Given the description of an element on the screen output the (x, y) to click on. 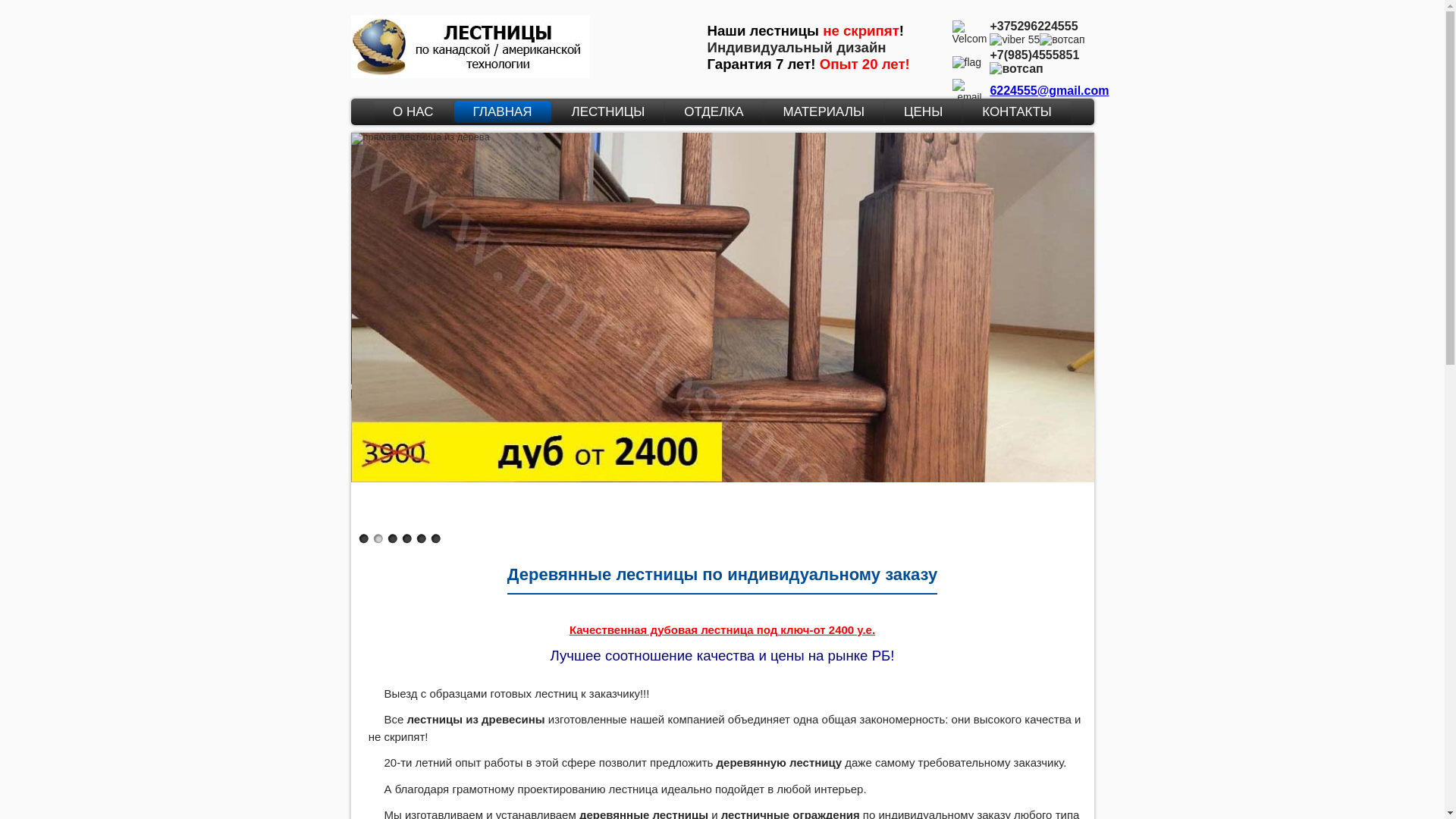
6224555@gmail.com Element type: text (1048, 89)
